Given the description of an element on the screen output the (x, y) to click on. 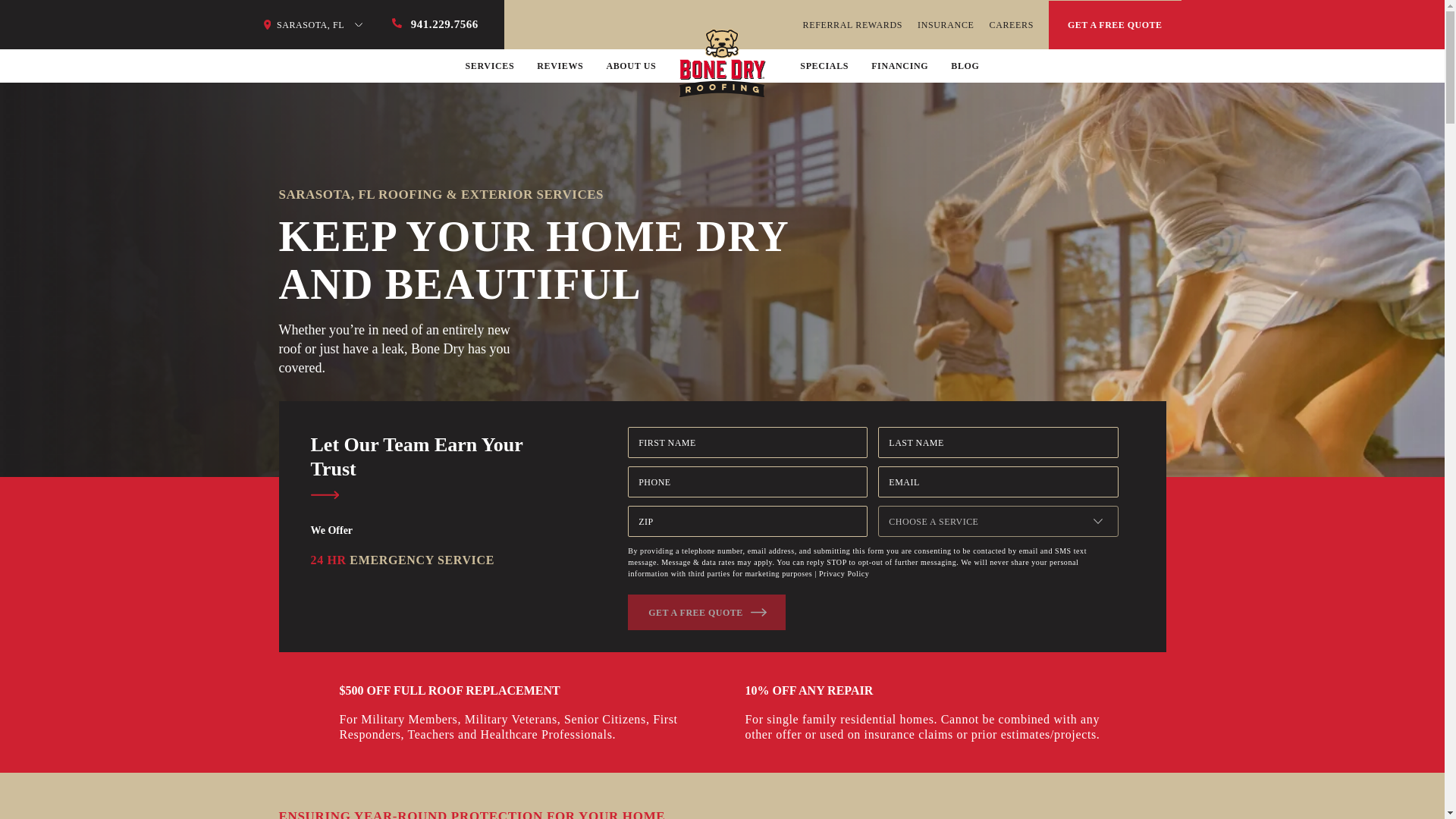
INSURANCE (945, 24)
GET A FREE QUOTE (1114, 24)
CAREERS (1010, 24)
GET A FREE QUOTE (706, 611)
REFERRAL REWARDS (852, 24)
SERVICES (490, 65)
ABOUT US (630, 65)
REVIEWS (560, 65)
